Given the description of an element on the screen output the (x, y) to click on. 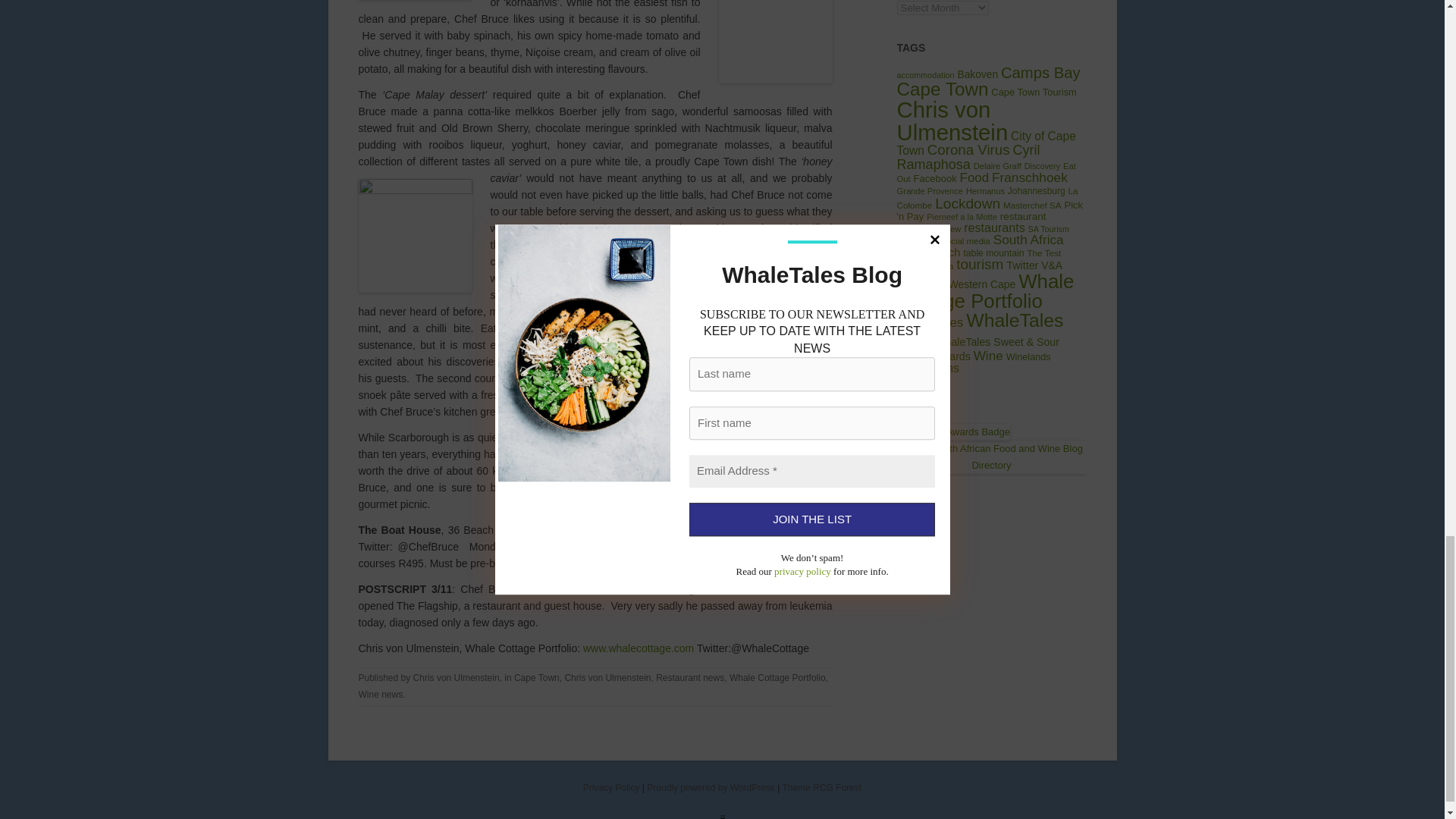
boat-house-cape-malay-dessert-whale-cottage-portfolio (414, 235)
Wine news (380, 694)
Whale Cottage Portfolio (777, 677)
www.whalecottage.com (636, 648)
www.chefbrucerobertson.com (762, 530)
Restaurant news (689, 677)
boat-house-gurnard-whale-cottage-portfolio (775, 41)
boat-house-cheese-plate-whale-cottage-portfolio (775, 336)
Cape Town (536, 677)
View all posts by Chris von Ulmenstein (456, 677)
Chris von Ulmenstein (456, 677)
Chris von Ulmenstein (607, 677)
